Given the description of an element on the screen output the (x, y) to click on. 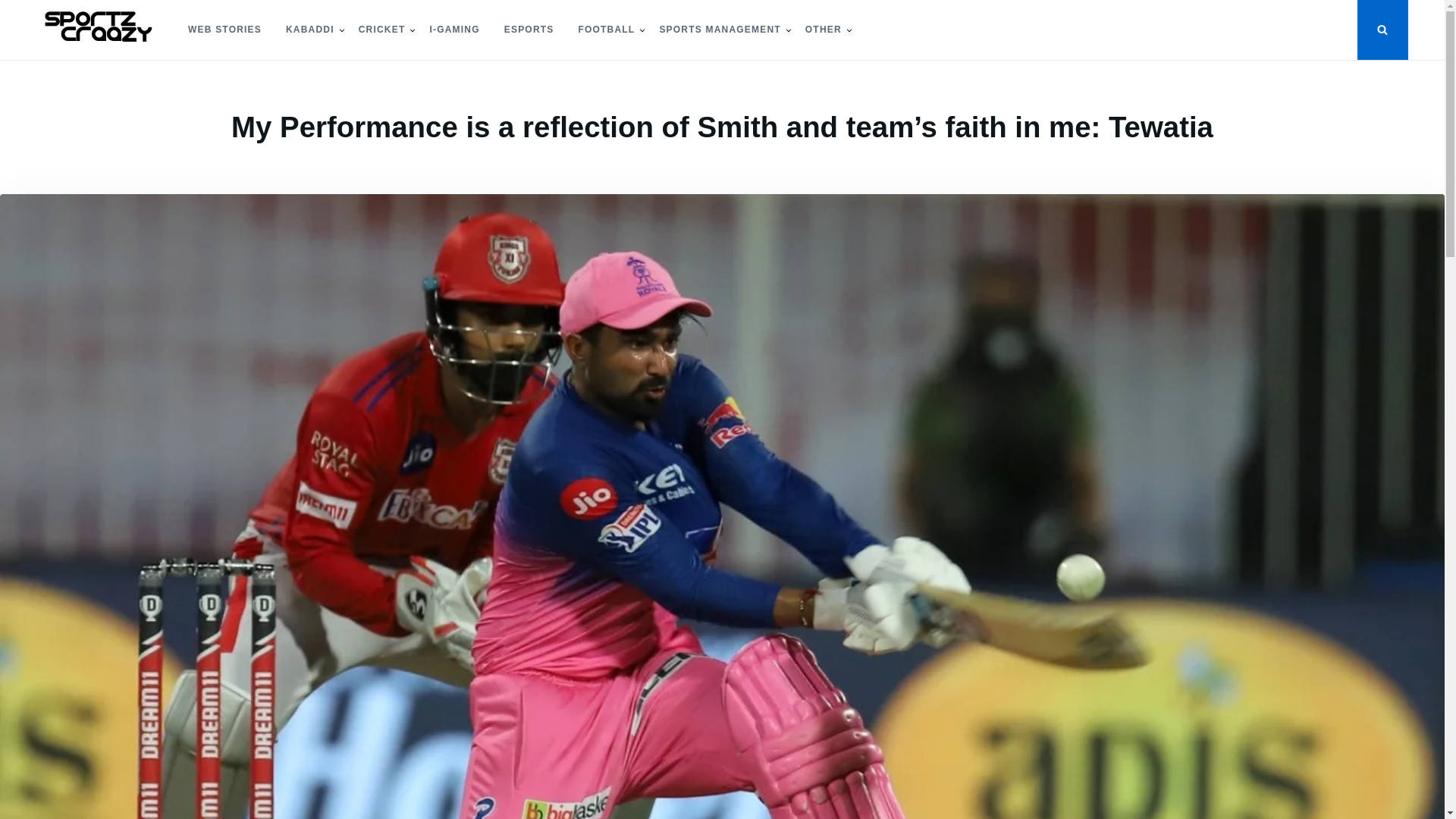
WEB STORIES (224, 29)
Sportzcraazy (92, 72)
KABADDI (309, 29)
